Given the description of an element on the screen output the (x, y) to click on. 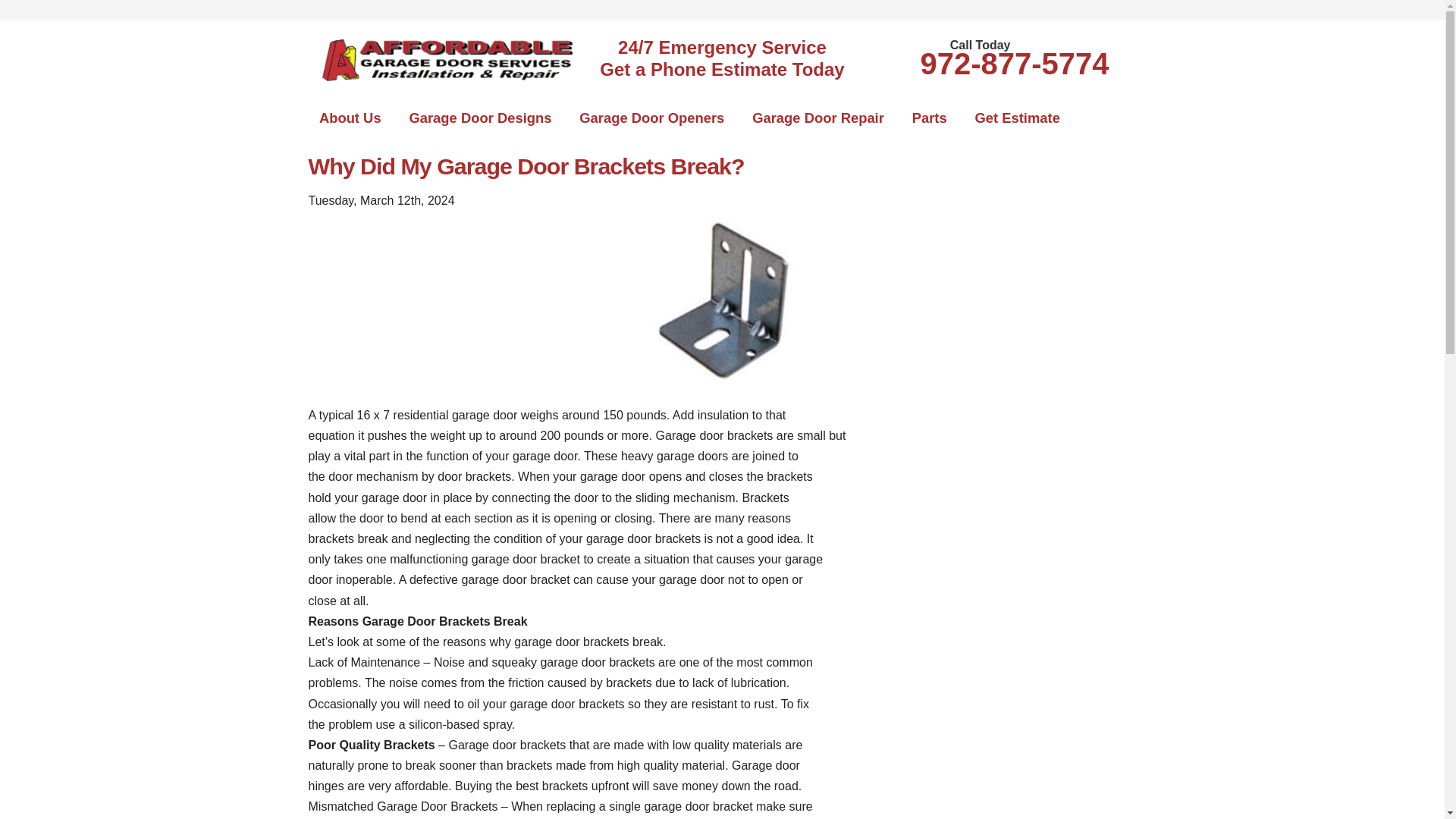
Garage Door Openers (652, 118)
Garage Door Designs (480, 118)
972-877-5774 (1014, 63)
About Us (349, 118)
Garage Door Openers (652, 118)
Garage Door Repair (818, 118)
